Given the description of an element on the screen output the (x, y) to click on. 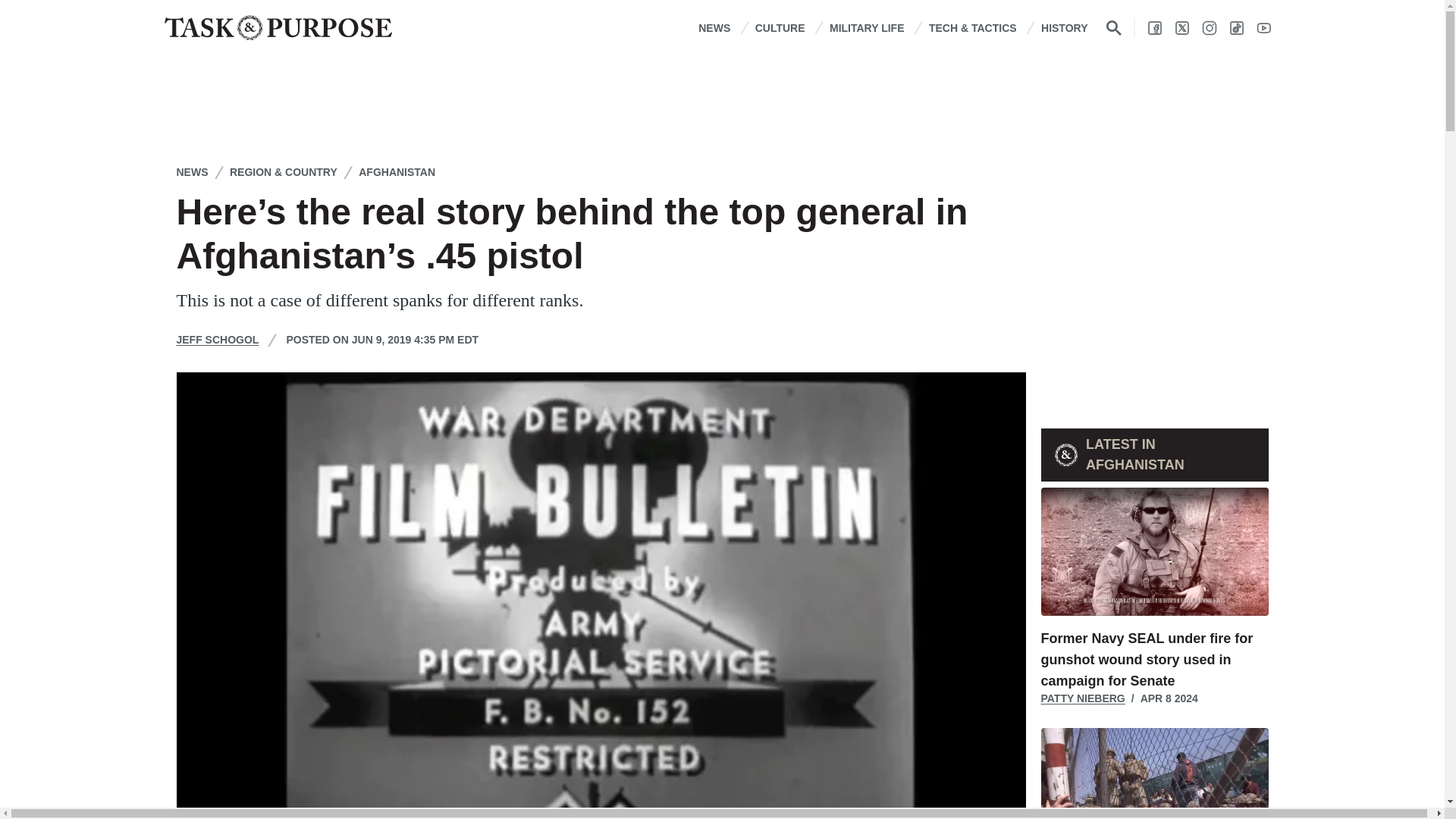
MILITARY LIFE (866, 27)
NEWS (714, 27)
CULTURE (780, 27)
